Given the description of an element on the screen output the (x, y) to click on. 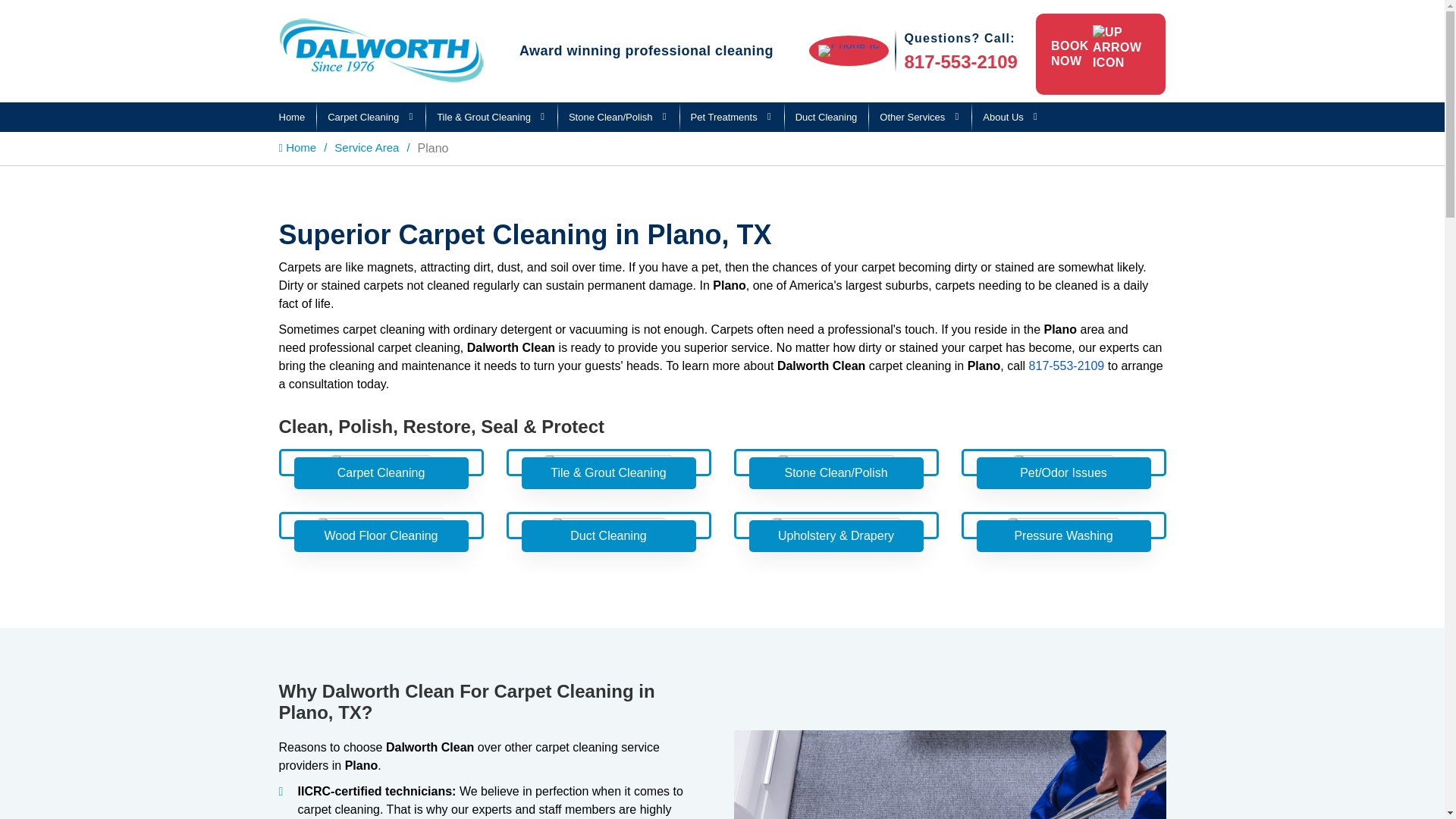
Home (292, 116)
Carpet Cleaning (370, 116)
817-553-2109 (960, 61)
BOOK NOW (1100, 54)
Phone Icon (848, 51)
